Given the description of an element on the screen output the (x, y) to click on. 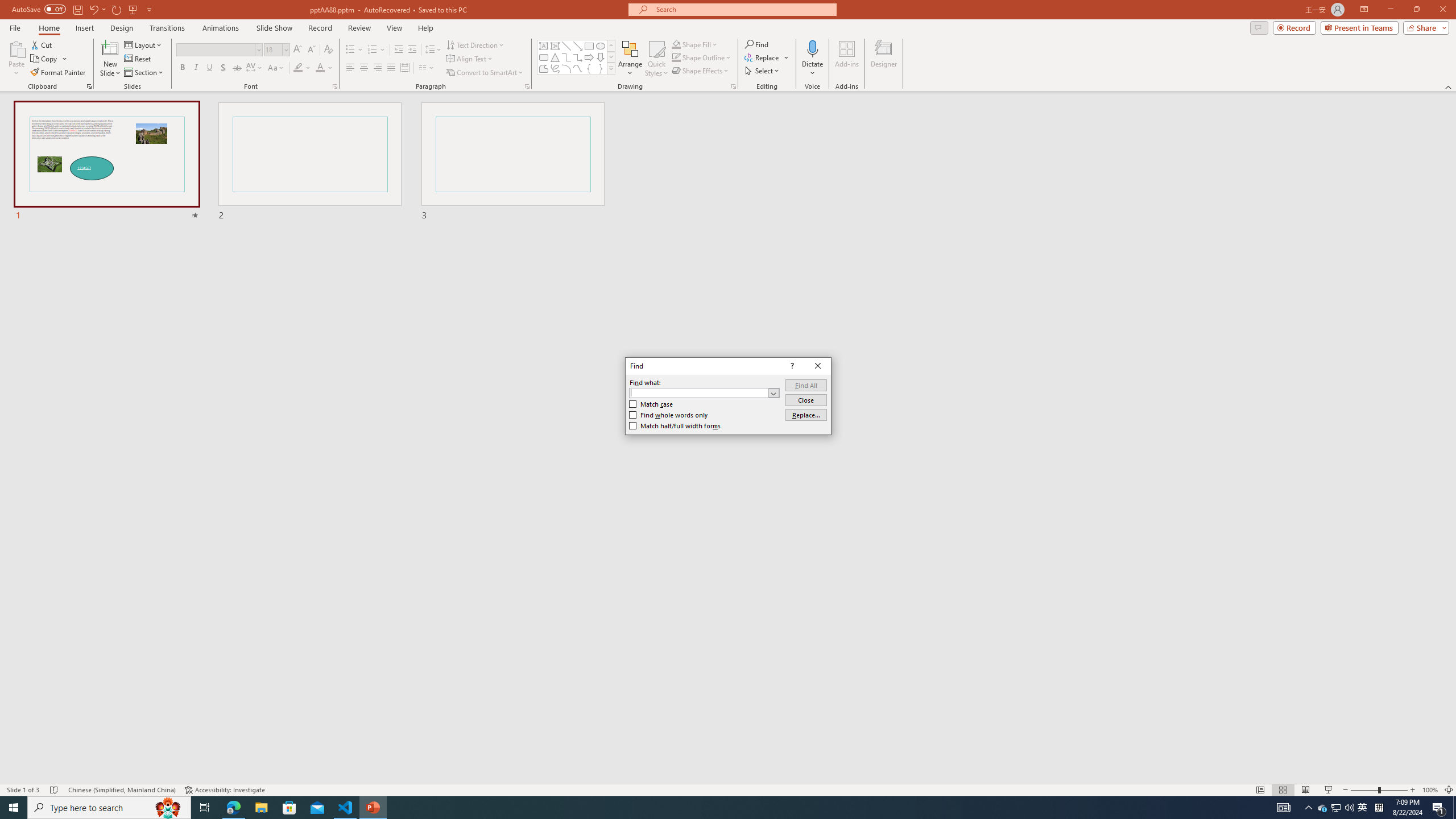
Find All (805, 384)
